Given the description of an element on the screen output the (x, y) to click on. 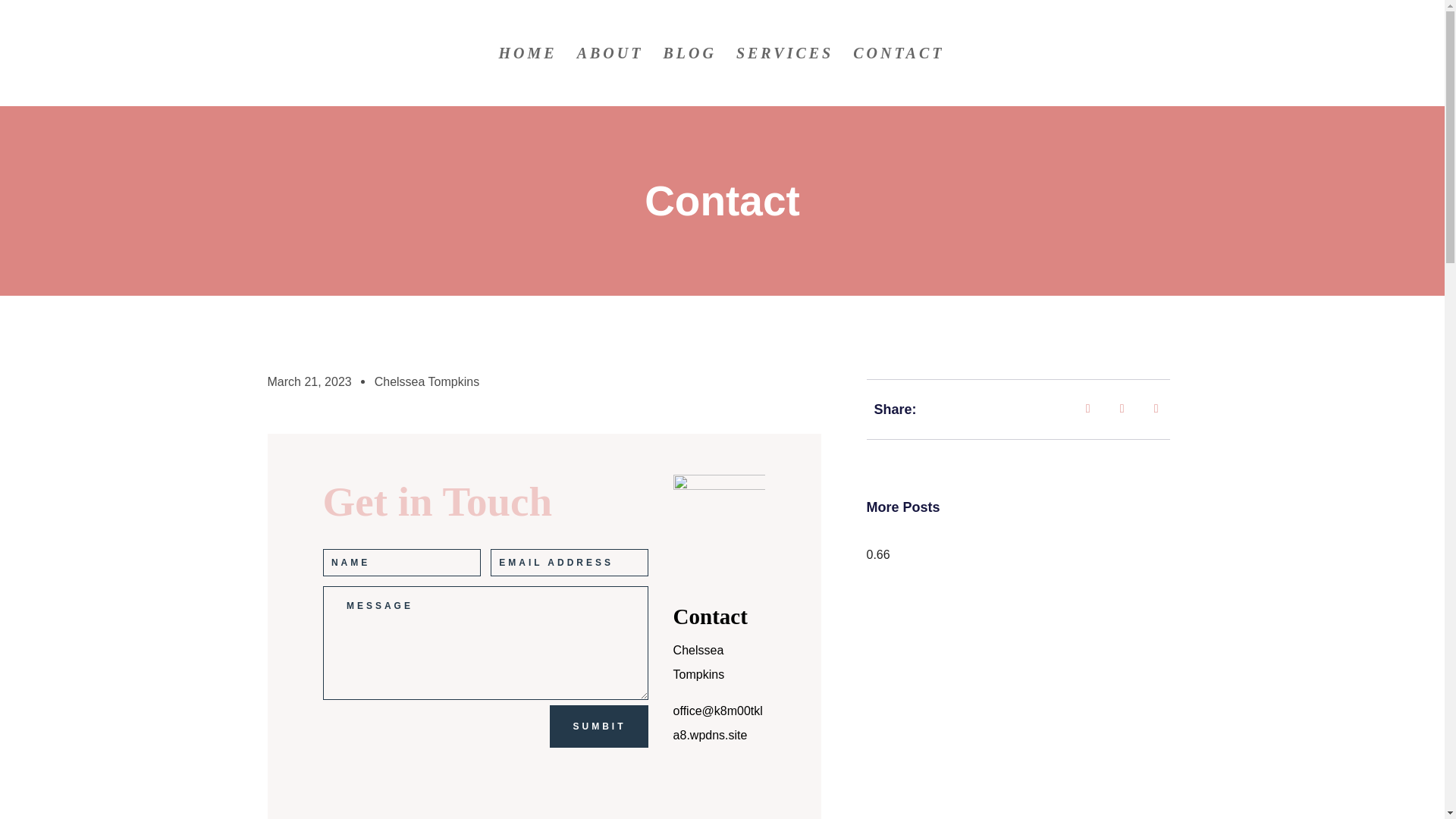
SUMBIT (598, 726)
March 21, 2023 (308, 381)
CONTACT (898, 76)
BLOG (689, 76)
ABOUT (609, 76)
SERVICES (784, 76)
HOME (528, 76)
